Given the description of an element on the screen output the (x, y) to click on. 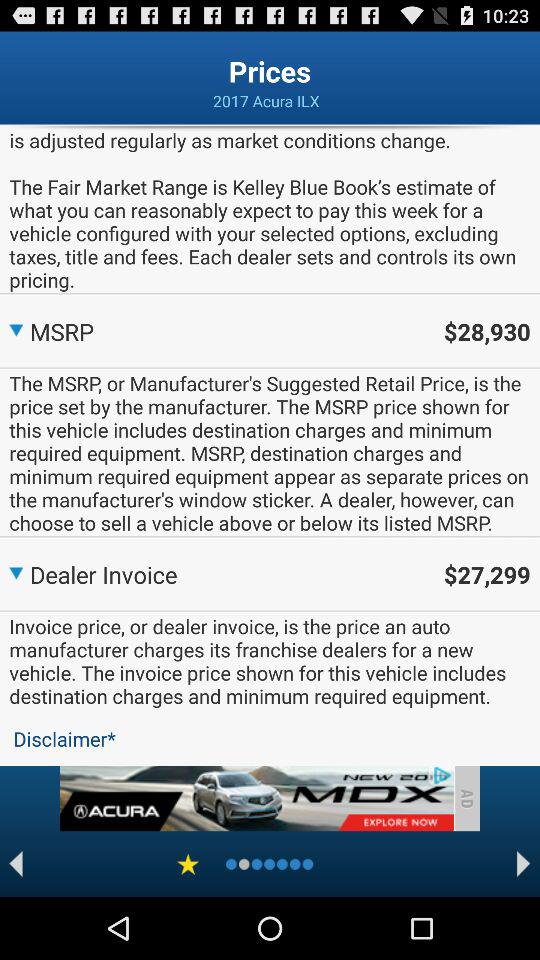
click the left side first  down indication (16, 328)
select the star symbol which is at the bottom of the page (188, 863)
